Given the description of an element on the screen output the (x, y) to click on. 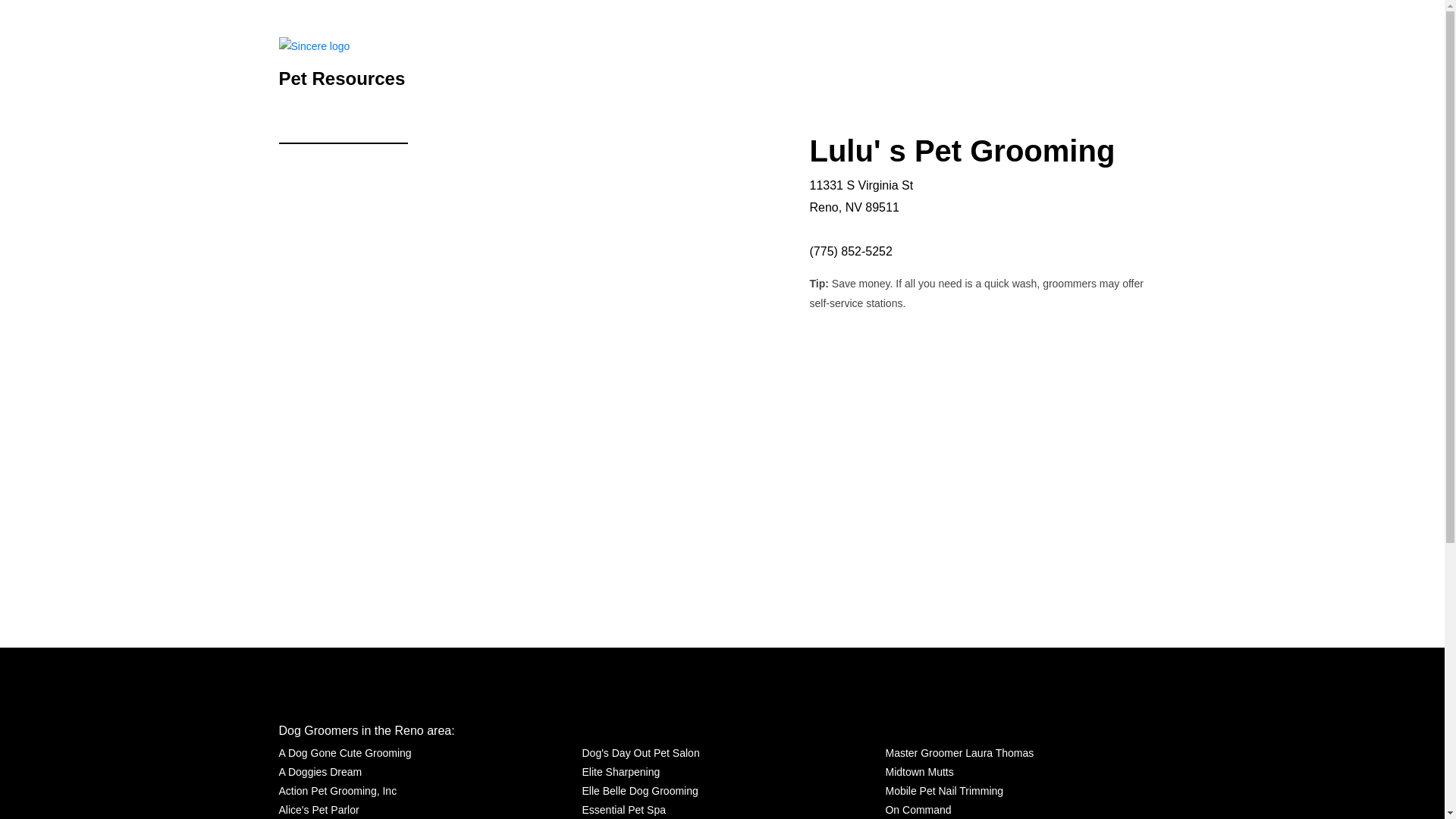
Alice's Pet Parlor (319, 809)
Dog Groomers in the Reno area: (366, 730)
Elite Sharpening (619, 772)
Action Pet Grooming, Inc (338, 791)
Essential Pet Spa (622, 809)
A Dog Gone Cute Grooming (345, 752)
Pet Resources (342, 76)
Dog's Day Out Pet Salon (639, 752)
A Doggies Dream (320, 772)
Elle Belle Dog Grooming (638, 791)
